Given the description of an element on the screen output the (x, y) to click on. 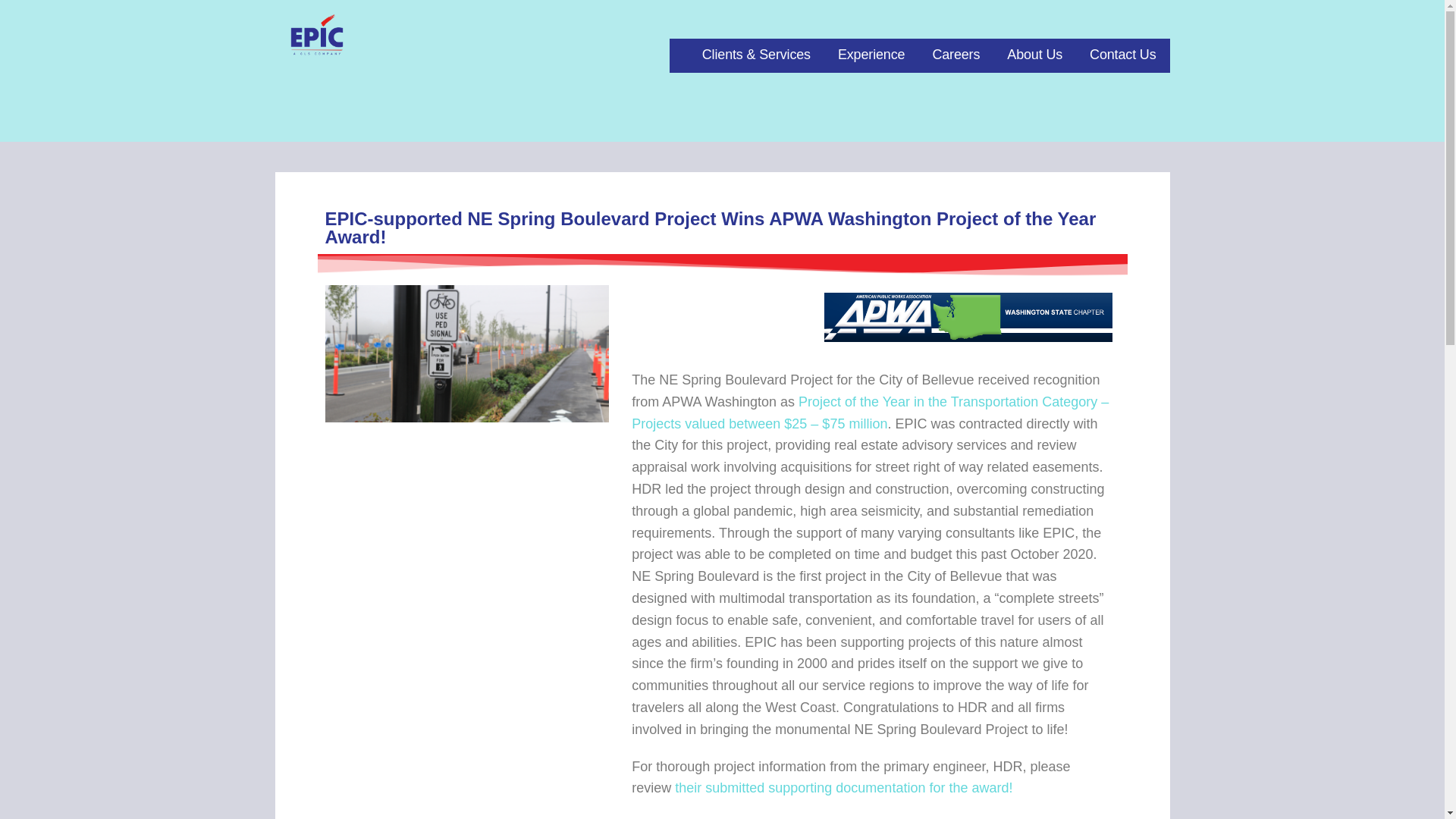
About Us (1034, 55)
Careers (955, 55)
Epic Land Solutions, Inc. (410, 69)
Experience (871, 55)
their submitted supporting documentation for the award! (841, 787)
Contact Us (1122, 55)
Search (47, 17)
